Given the description of an element on the screen output the (x, y) to click on. 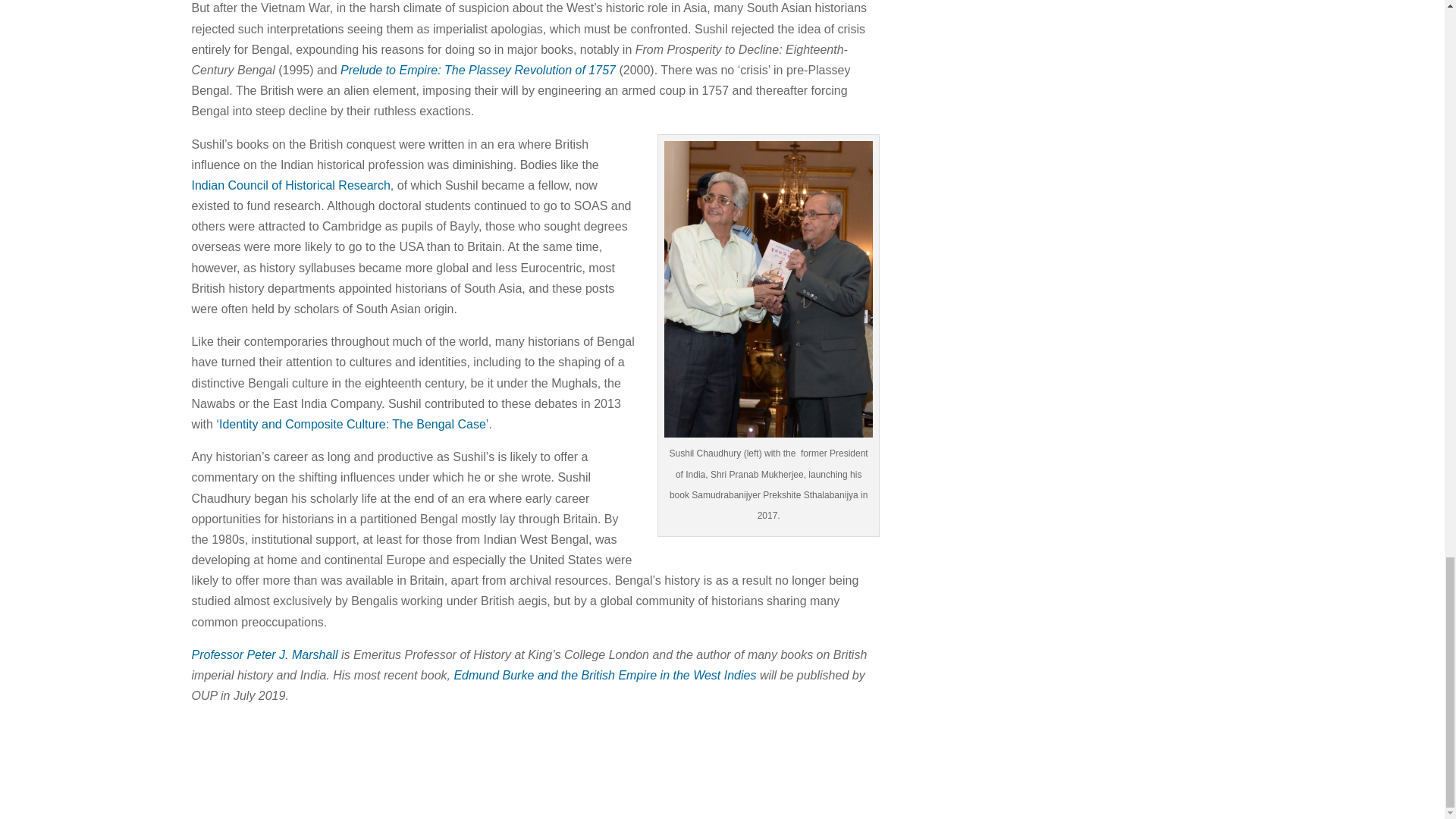
Professor Peter J. Marshall (263, 654)
Prelude to Empire: The Plassey Revolution of 1757 (477, 69)
Edmund Burke and the British Empire in the West Indies (603, 675)
Indian Council of Historical Research (290, 185)
